Given the description of an element on the screen output the (x, y) to click on. 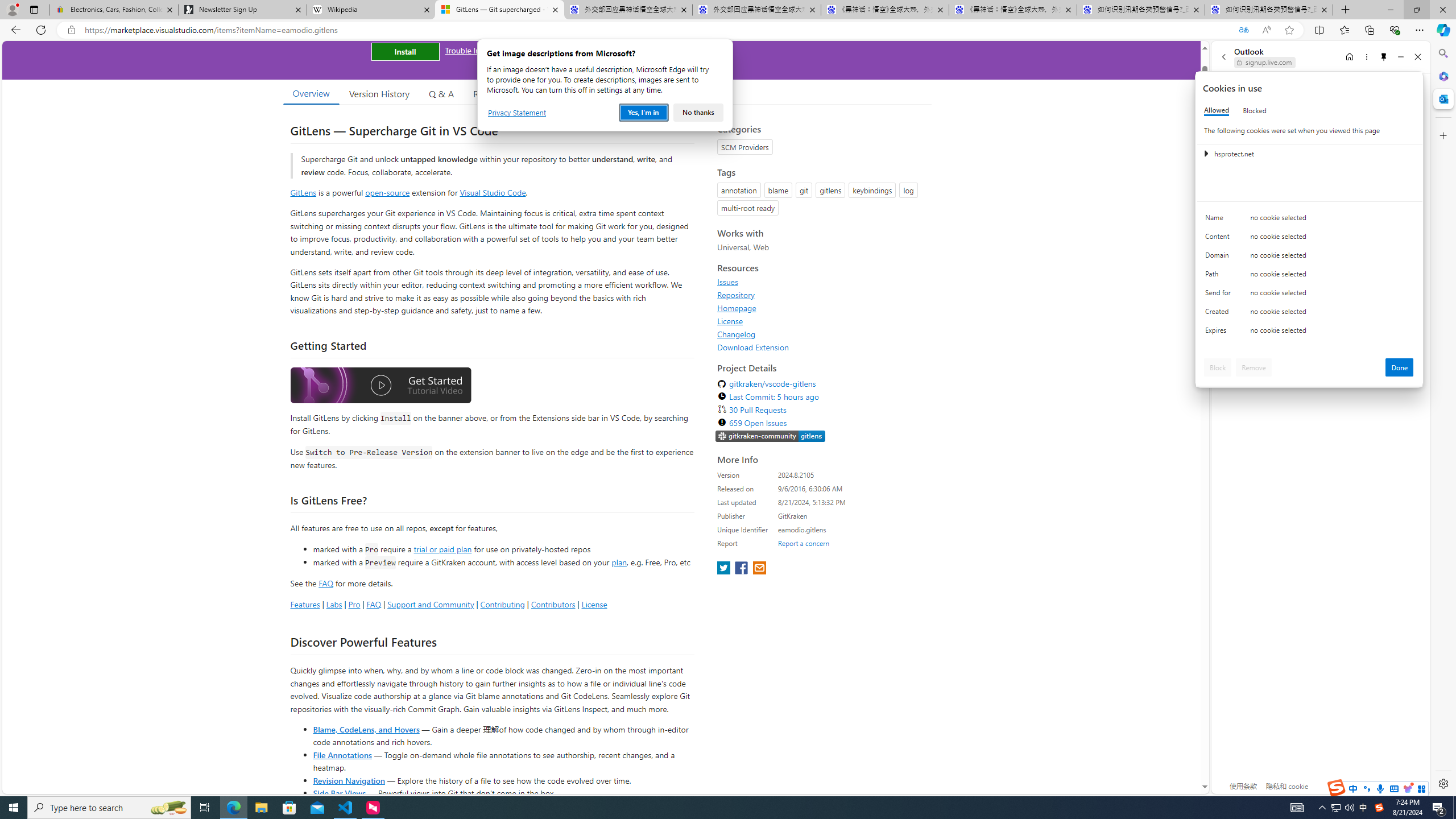
Yes, I'm in (643, 112)
No thanks (697, 112)
